Given the description of an element on the screen output the (x, y) to click on. 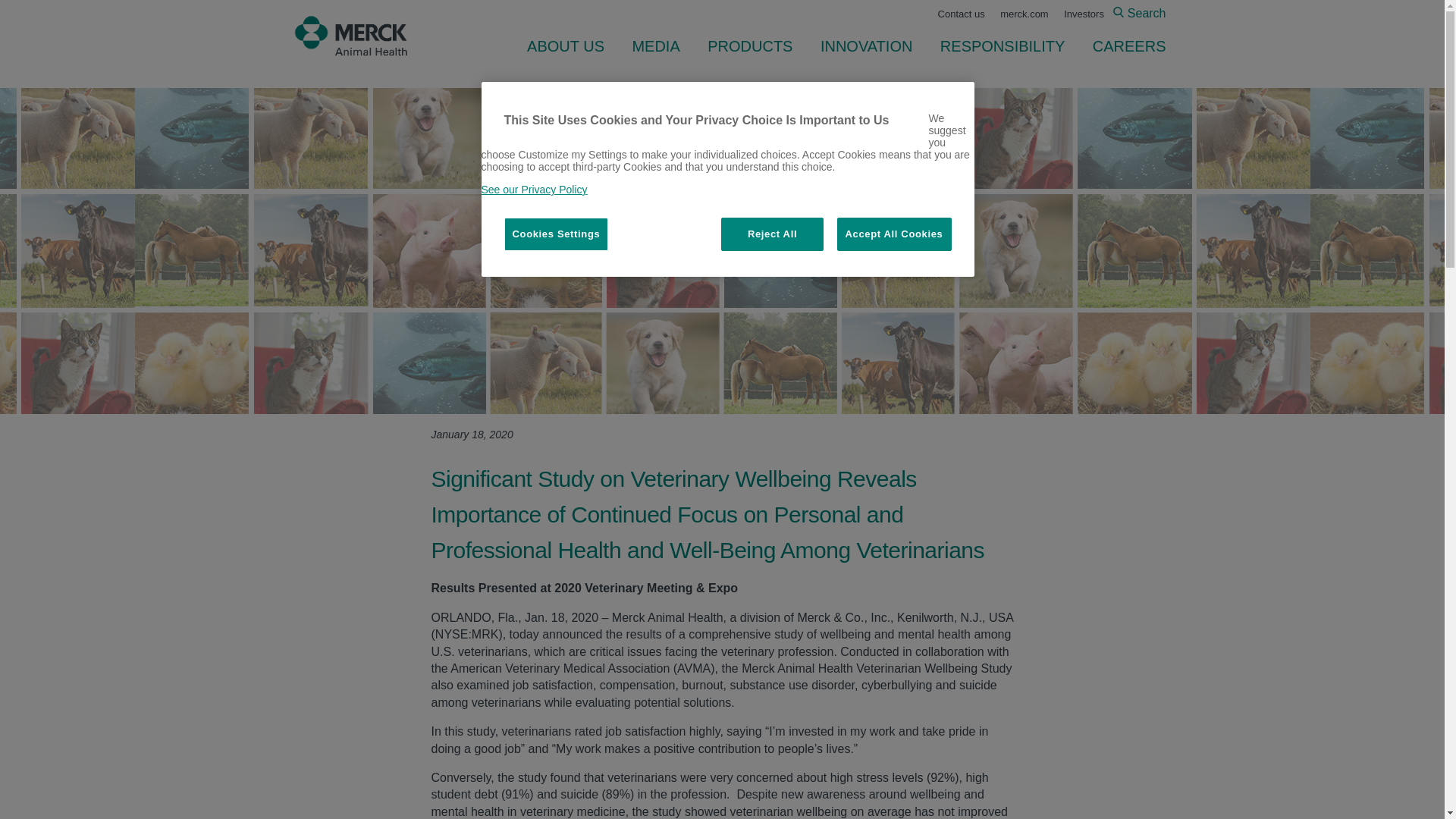
MEDIA (655, 46)
RESPONSIBILITY (1002, 46)
CAREERS (1123, 46)
Search (1139, 12)
Investors (1083, 14)
Contact us (961, 14)
ABOUT US (565, 46)
Careers (1123, 46)
merck.com (1024, 14)
INNOVATION (866, 46)
PRODUCTS (750, 46)
